Given the description of an element on the screen output the (x, y) to click on. 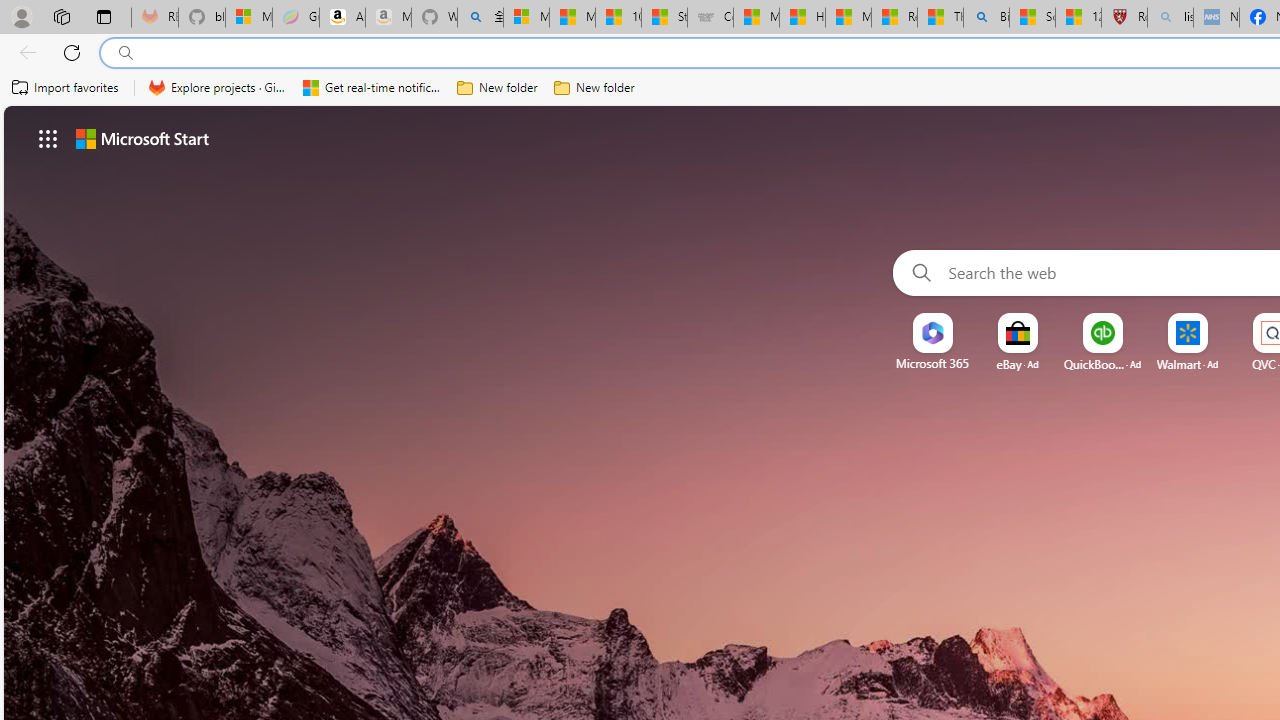
App launcher (47, 138)
Search icon (125, 53)
